Given the description of an element on the screen output the (x, y) to click on. 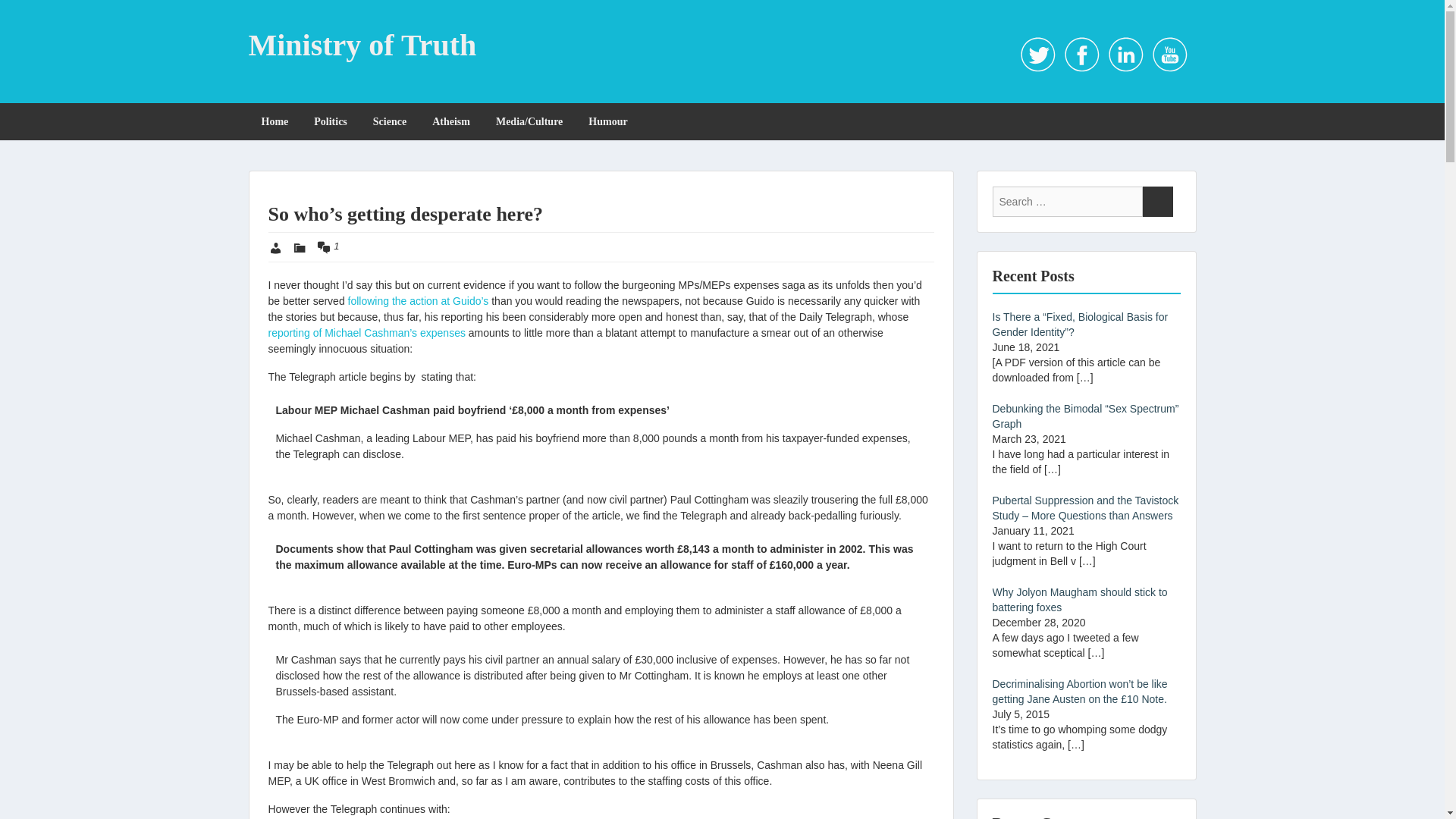
Why Jolyon Maugham should stick to battering foxes (1079, 599)
Politics (330, 121)
Ministry of Truth (362, 44)
Home (274, 121)
Humour (607, 121)
Science (389, 121)
Search (1156, 201)
Atheism (451, 121)
Search (1156, 201)
Search for: (1066, 201)
